Given the description of an element on the screen output the (x, y) to click on. 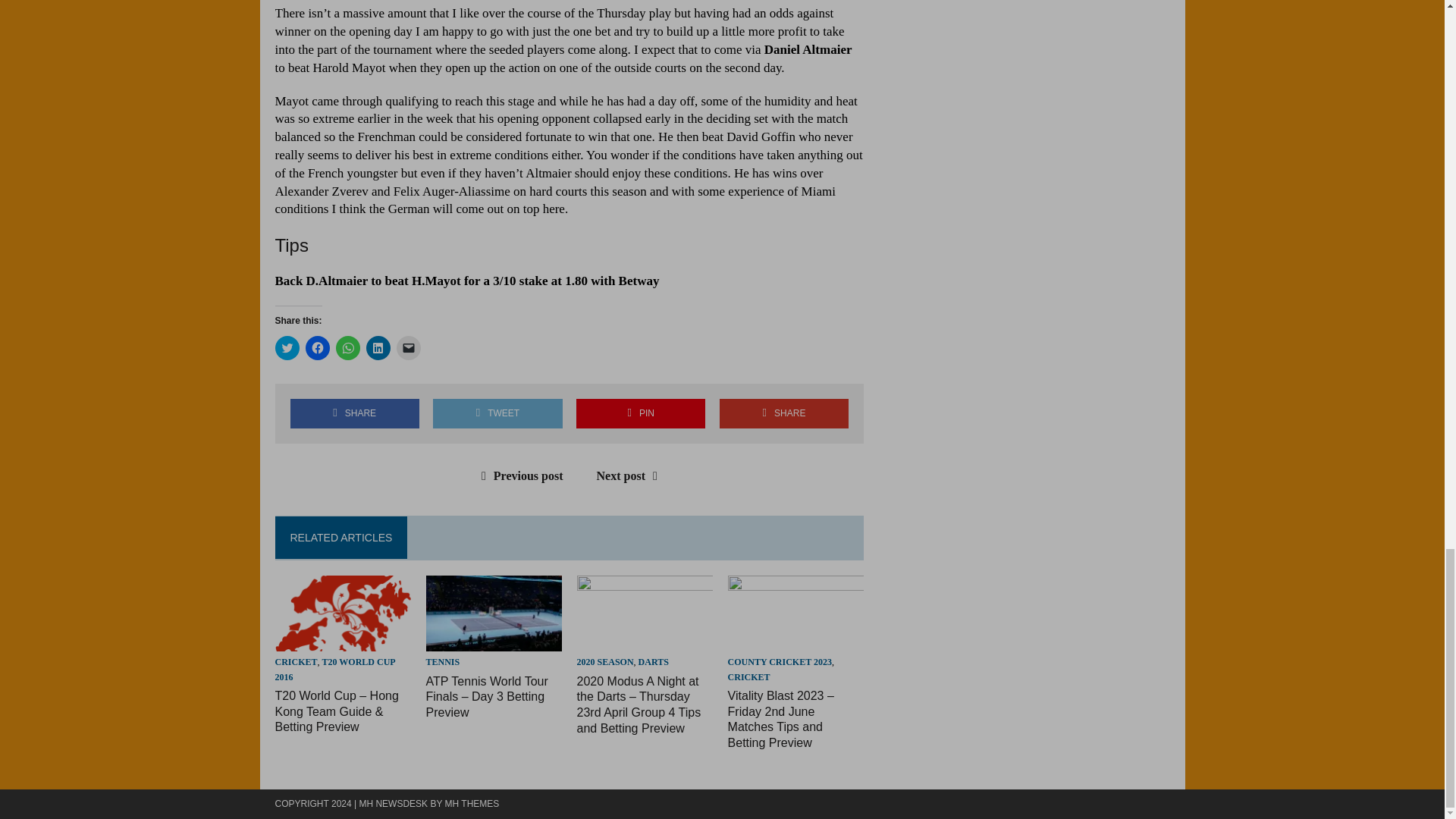
Click to share on LinkedIn (377, 347)
Click to share on WhatsApp (346, 347)
Click to email a link to a friend (408, 347)
Share on Facebook (354, 413)
Click to share on Facebook (316, 347)
Click to share on Twitter (286, 347)
Tweet This Post (497, 413)
Pin This Post (640, 413)
